Given the description of an element on the screen output the (x, y) to click on. 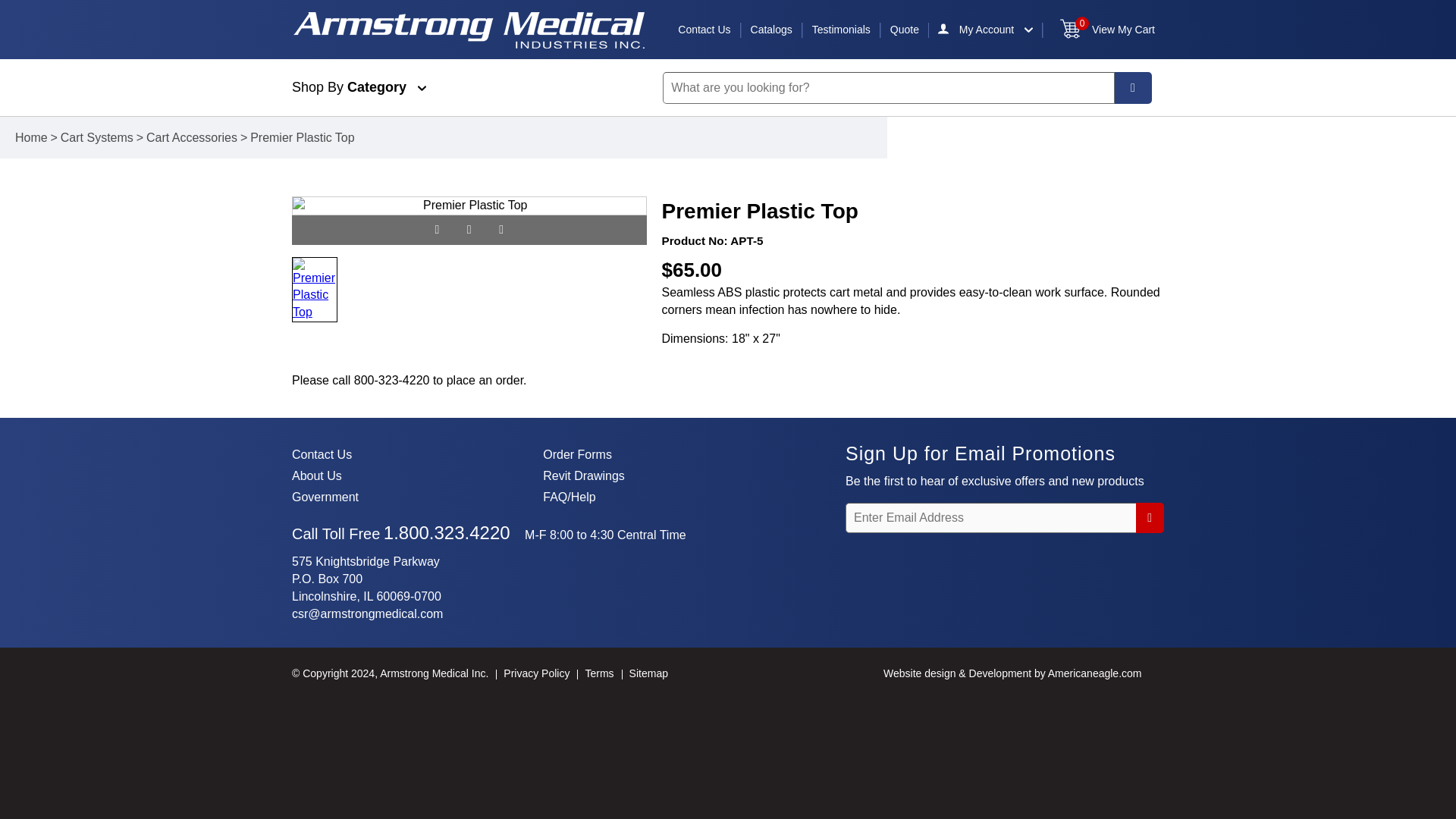
Order Forms (577, 454)
Shop By Category (461, 87)
Terms (598, 673)
Contact Us (704, 29)
Sitemap (648, 673)
Cart Accessories (192, 137)
Home (31, 137)
Catalogs (771, 29)
Americaneagle.com (1094, 673)
1.800.323.4220 (447, 534)
